Given the description of an element on the screen output the (x, y) to click on. 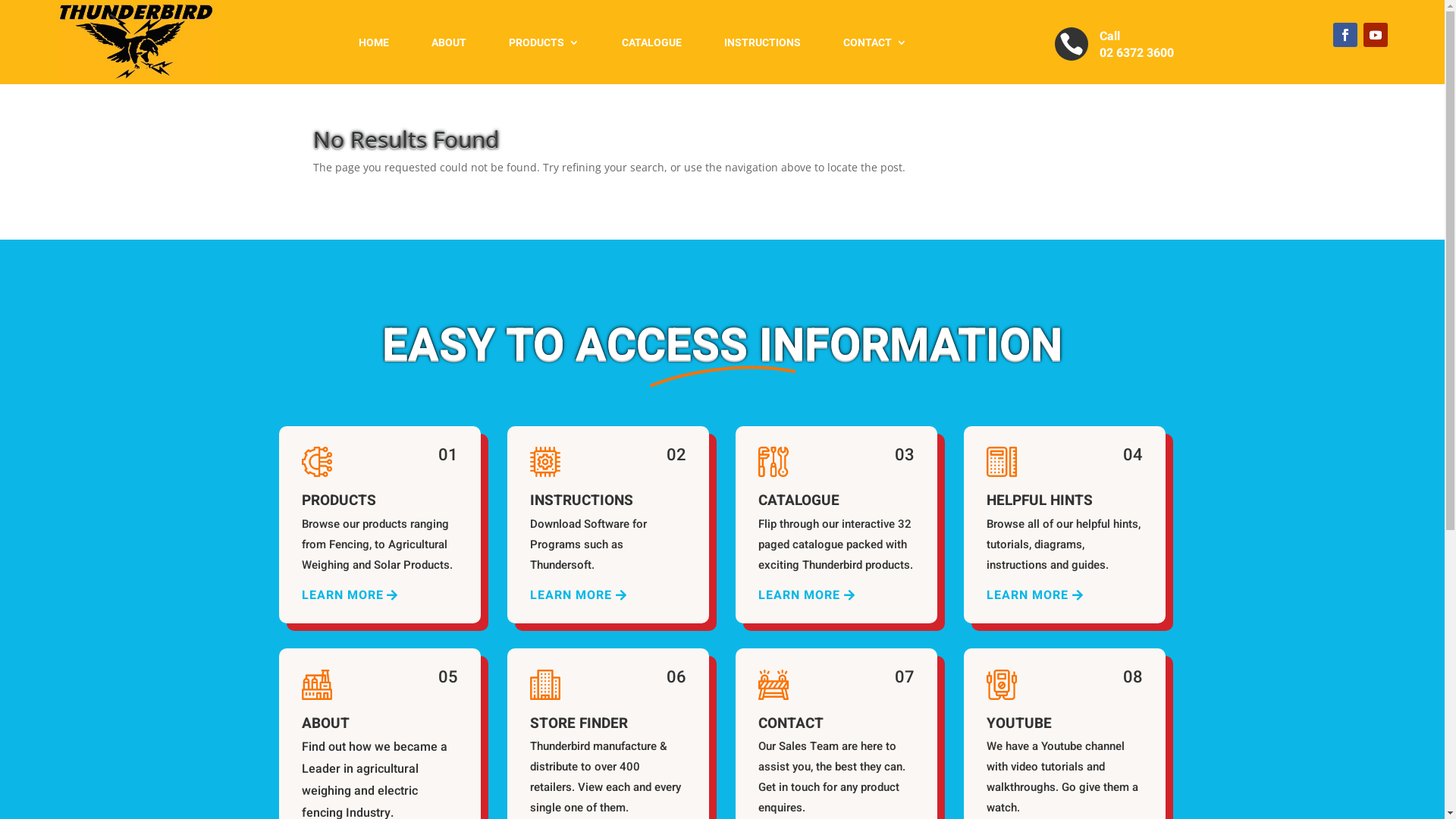
ABOUT Element type: text (448, 41)
LEARN MORE Element type: text (342, 595)
Call Element type: text (1109, 36)
LEARN MORE Element type: text (799, 595)
industrial-10-8-services-icons-3 Element type: hover (773, 461)
CONTACT Element type: text (874, 41)
Follow on Youtube Element type: hover (1375, 34)
industrial-10-8-services-icons-2 Element type: hover (1001, 461)
Follow on Facebook Element type: hover (1345, 34)
PRODUCTS Element type: text (543, 41)
INSTRUCTIONS Element type: text (762, 41)
industrial-10-8-services-icons-4 Element type: hover (545, 461)
LEARN MORE Element type: text (1027, 595)
CATALOGUE Element type: text (651, 41)
HOME Element type: text (373, 41)
LEARN MORE Element type: text (570, 595)
